Given the description of an element on the screen output the (x, y) to click on. 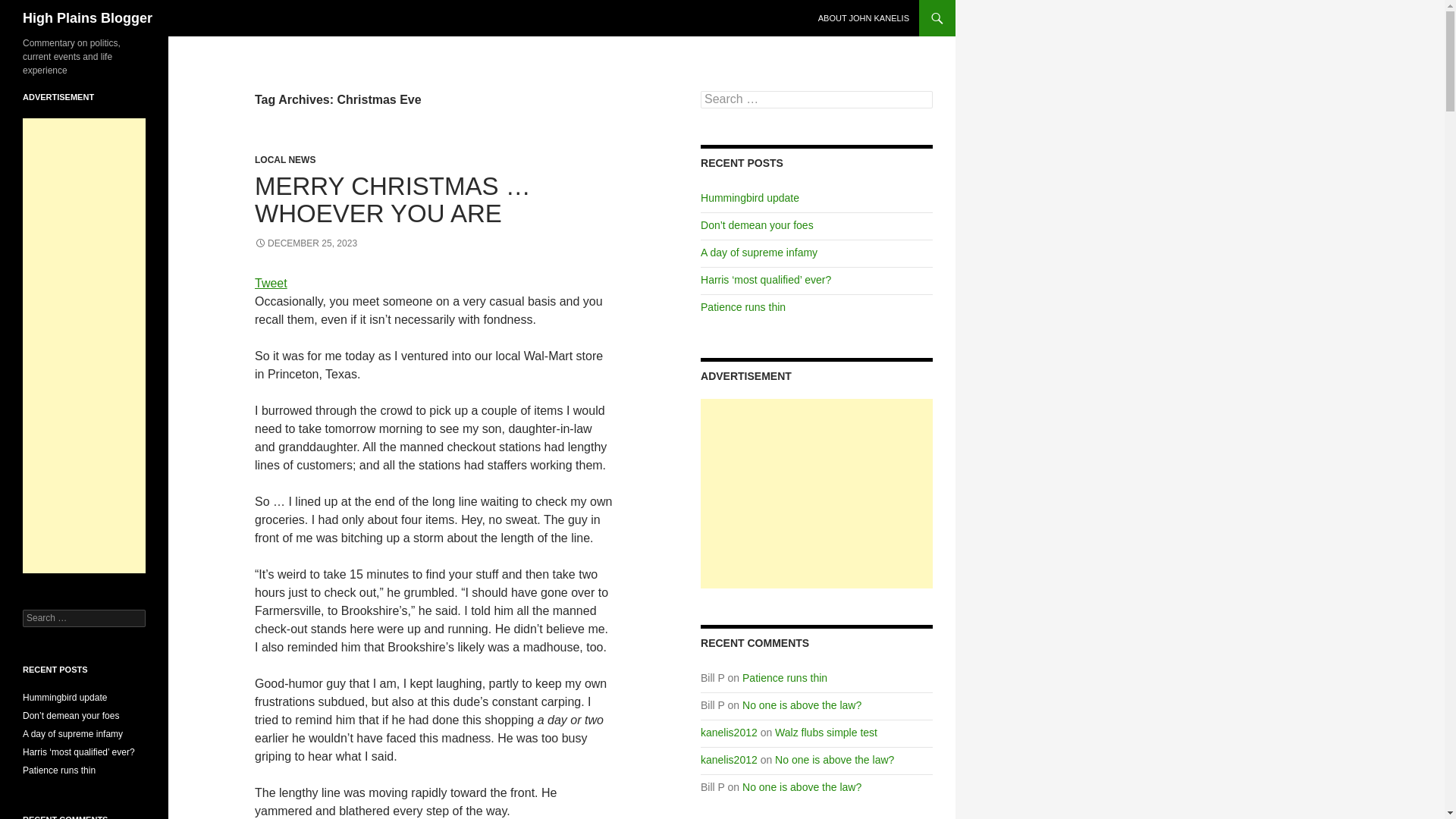
kanelis2012 (728, 732)
High Plains Blogger (87, 18)
DECEMBER 25, 2023 (305, 243)
No one is above the law? (801, 705)
Search (30, 8)
Tweet (270, 282)
Patience runs thin (784, 677)
A day of supreme infamy (758, 252)
LOCAL NEWS (284, 159)
Walz flubs simple test (825, 732)
